Given the description of an element on the screen output the (x, y) to click on. 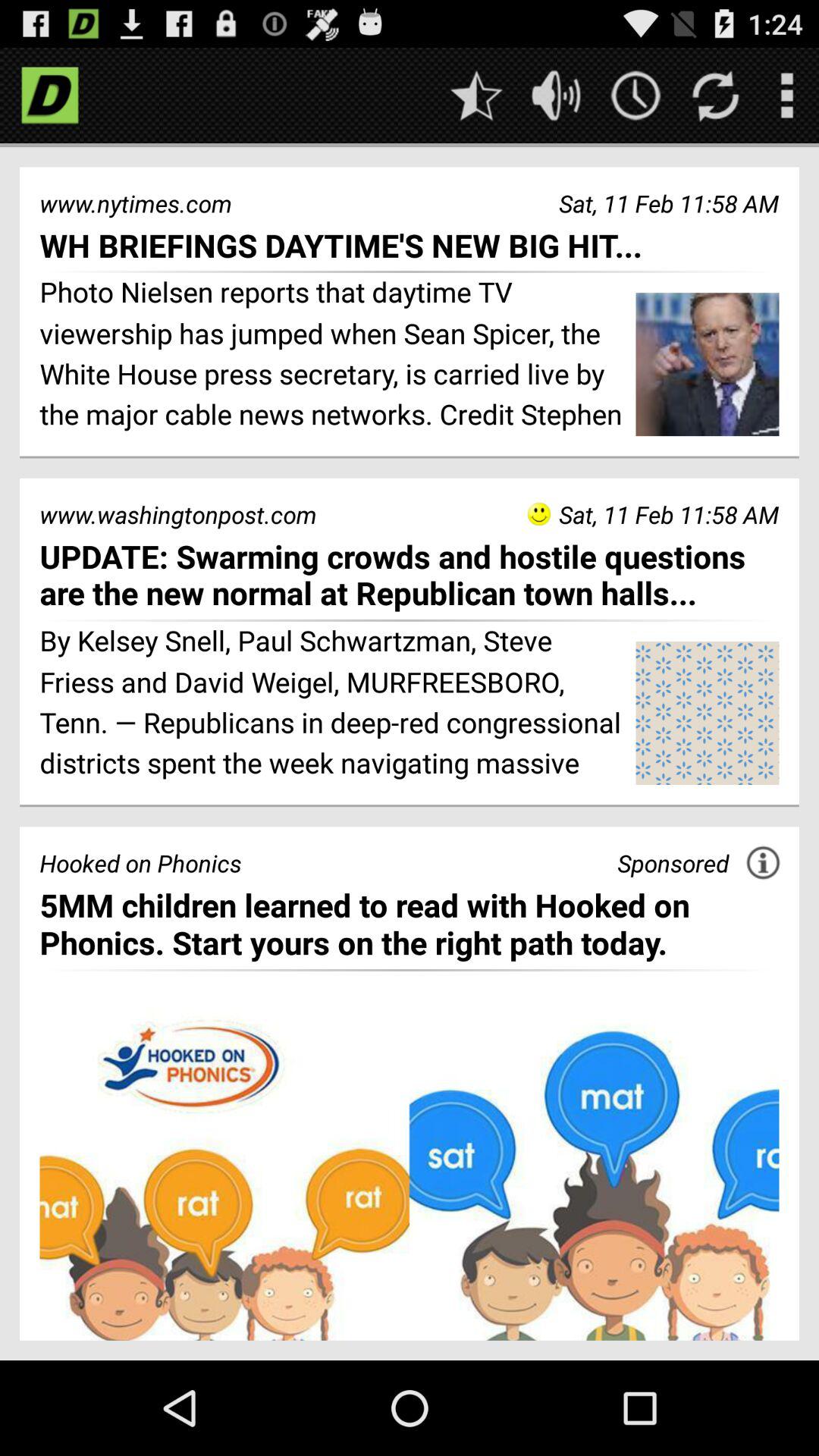
refresh page (715, 95)
